Given the description of an element on the screen output the (x, y) to click on. 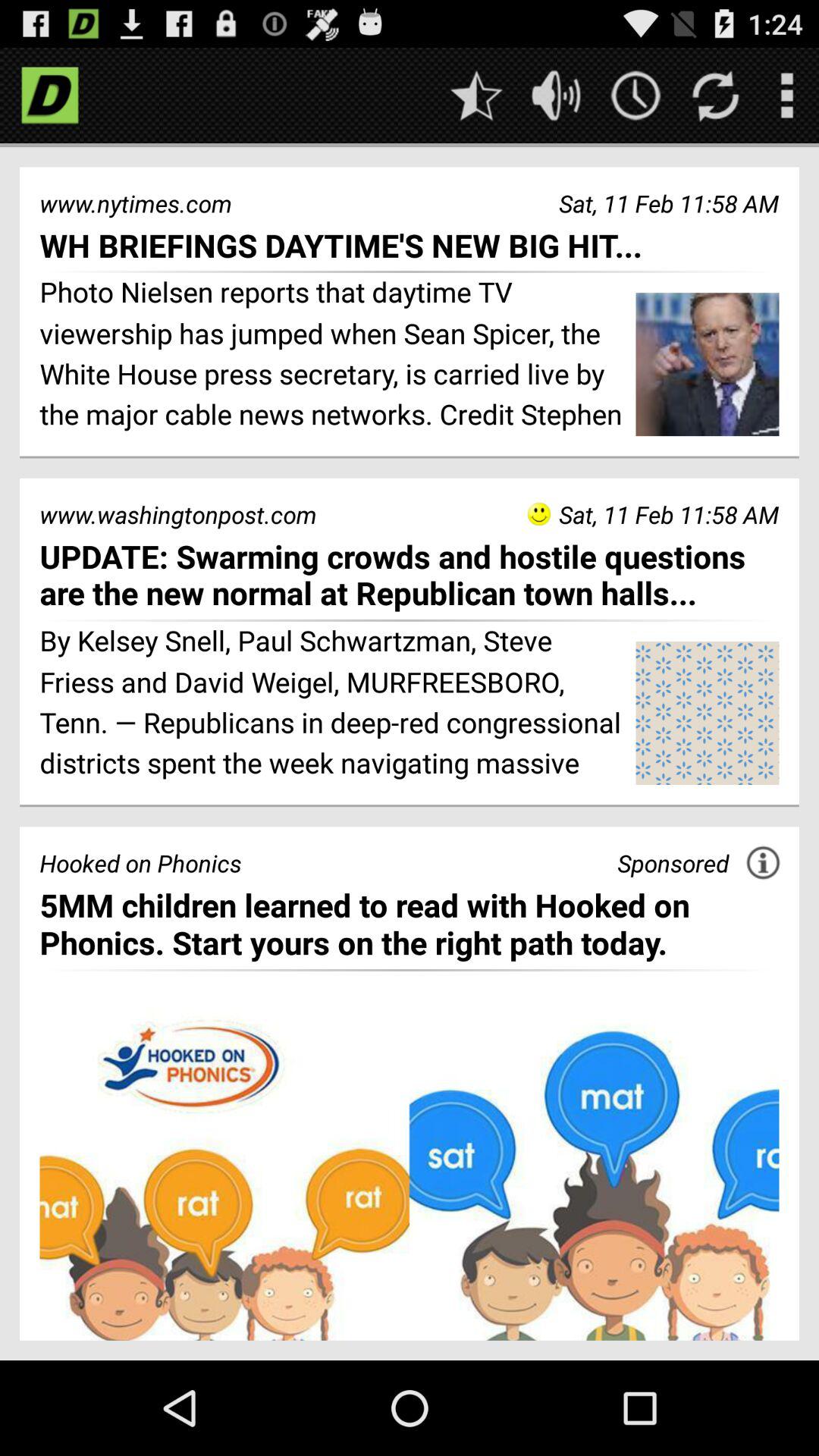
refresh page (715, 95)
